Given the description of an element on the screen output the (x, y) to click on. 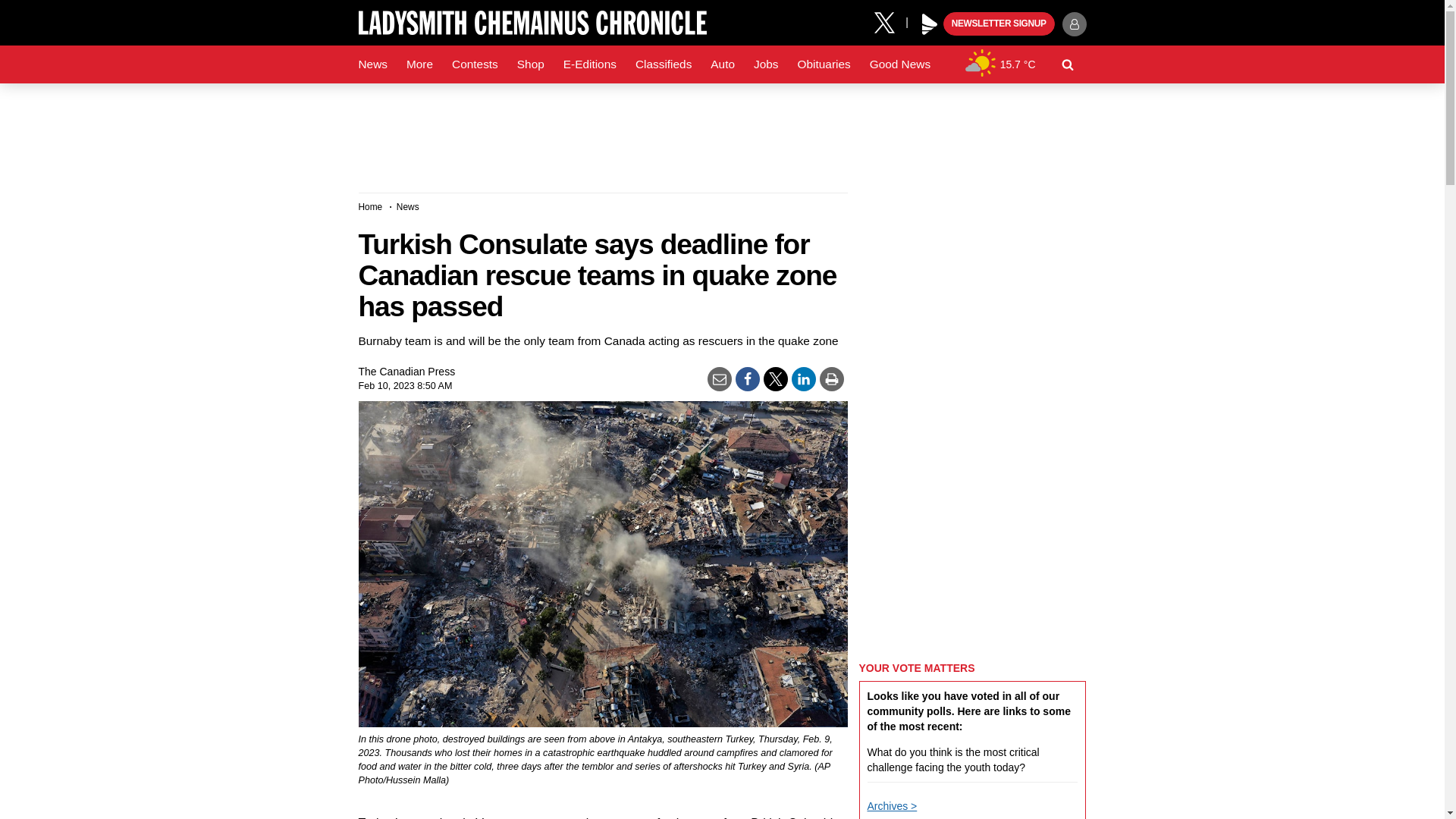
NEWSLETTER SIGNUP (998, 24)
Black Press Media (929, 24)
X (889, 21)
Play (929, 24)
3rd party ad content (721, 131)
News (372, 64)
